Given the description of an element on the screen output the (x, y) to click on. 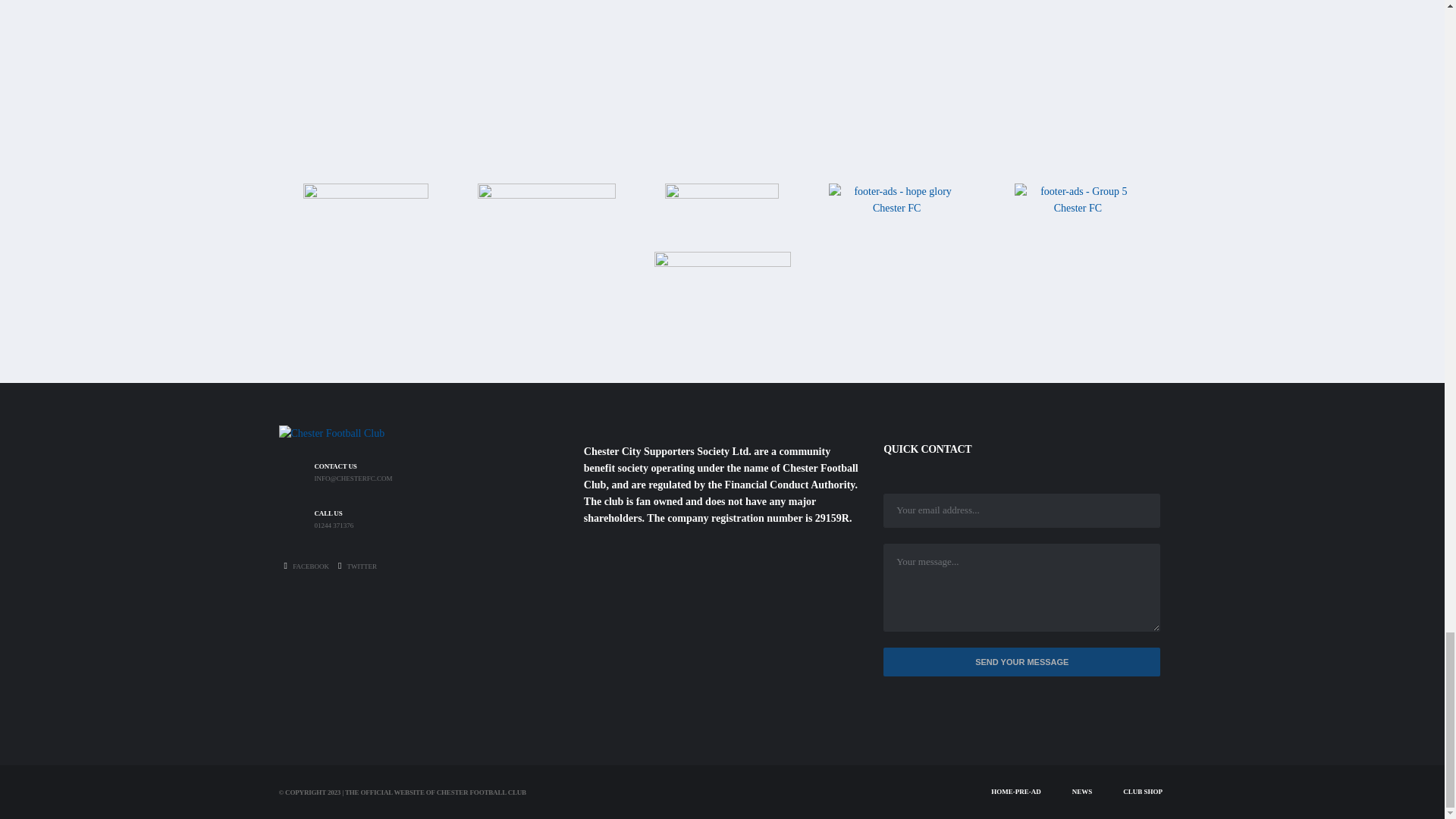
New-Balance-80 (365, 213)
Group 5 photo (1077, 208)
Send Your Message (1021, 662)
Mars-Jones-Logo-BG (721, 297)
mbna-2019-1 (546, 214)
Print (721, 215)
hope glory photo (896, 215)
